Given the description of an element on the screen output the (x, y) to click on. 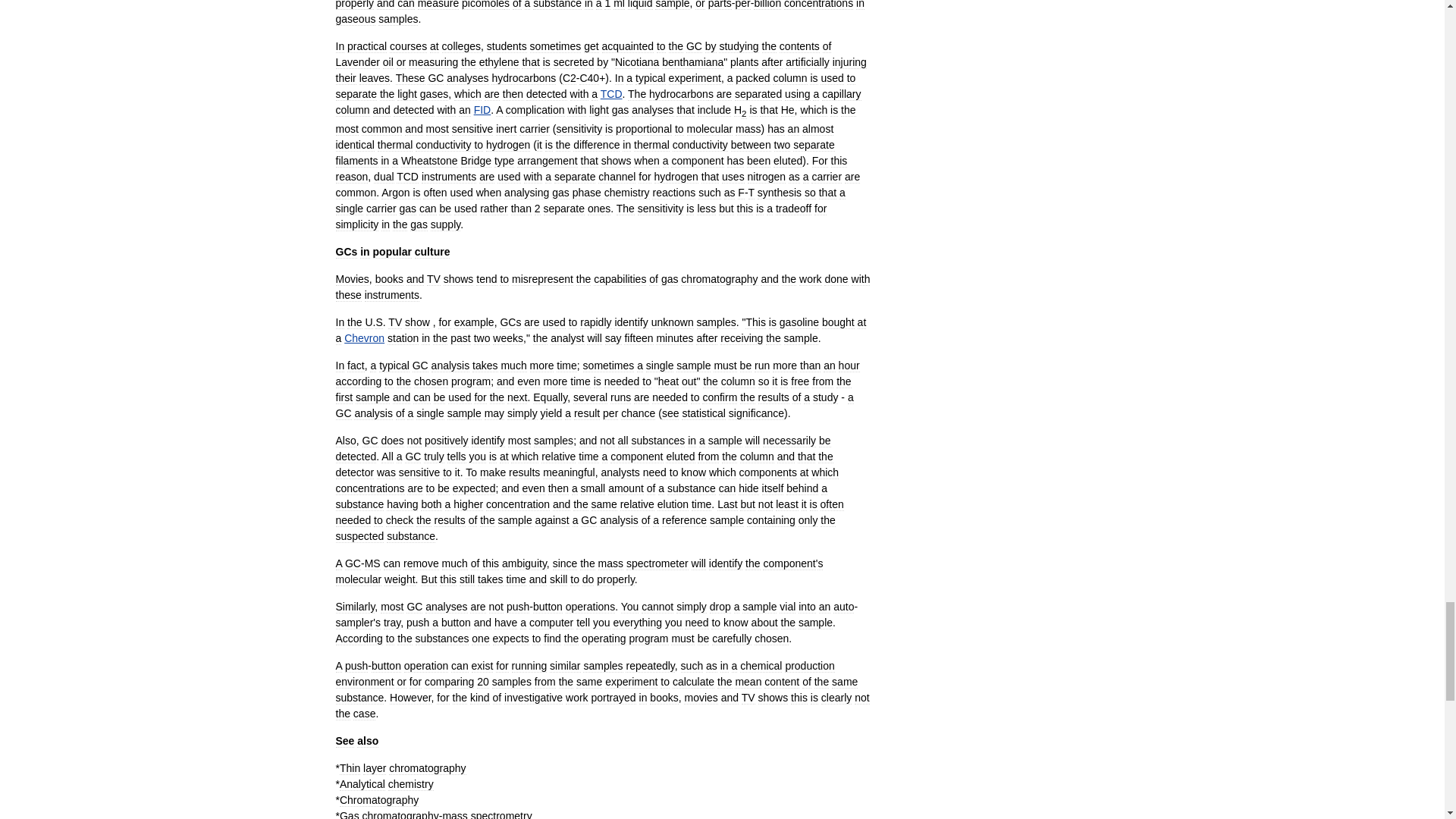
FID (483, 110)
Chevron (363, 337)
TCD (611, 93)
